Given the description of an element on the screen output the (x, y) to click on. 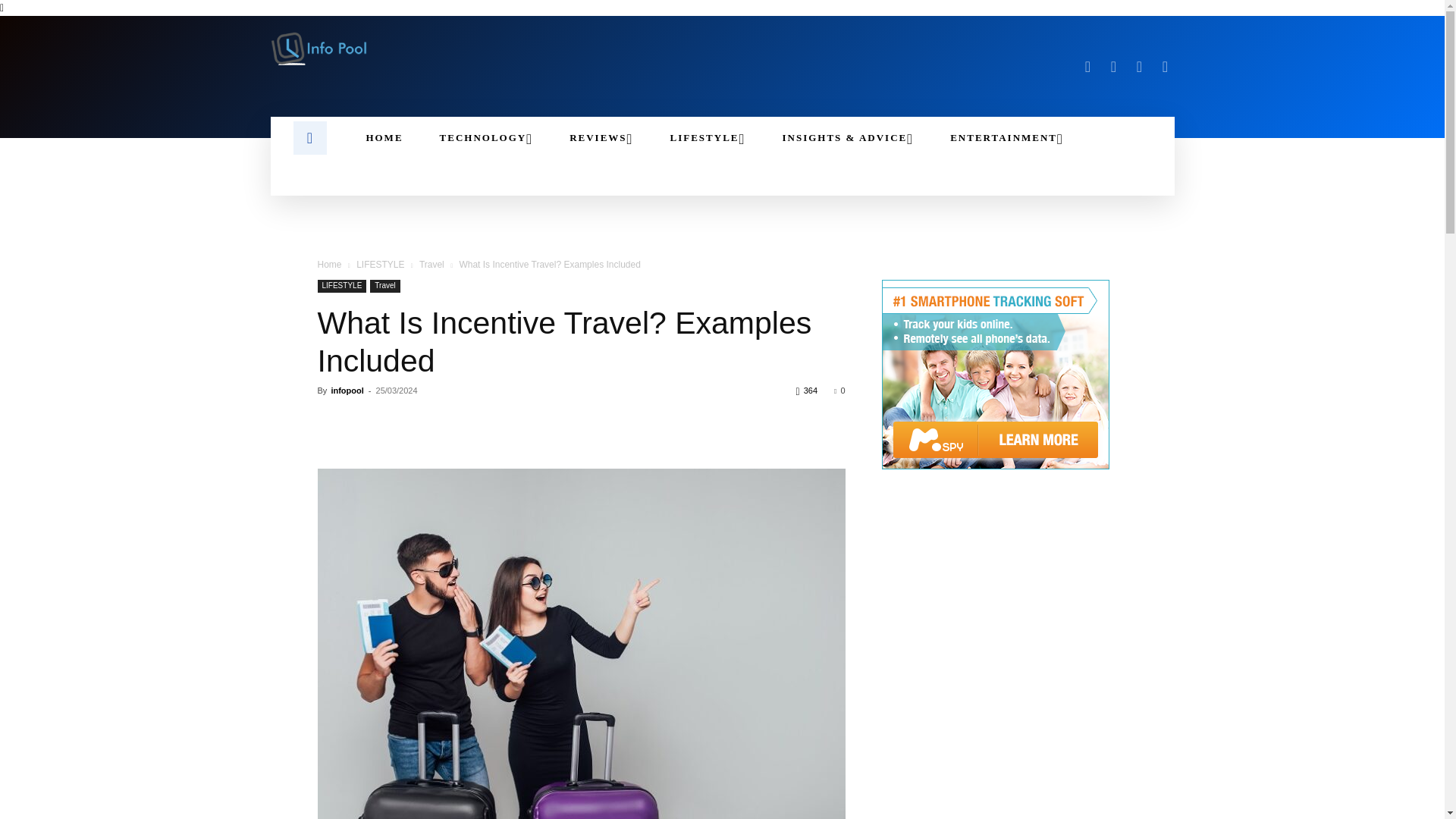
Mail (1112, 66)
View all posts in LIFESTYLE (380, 264)
View all posts in Travel (431, 264)
Facebook (1087, 66)
Twitter (1138, 66)
Youtube (1164, 66)
